Given the description of an element on the screen output the (x, y) to click on. 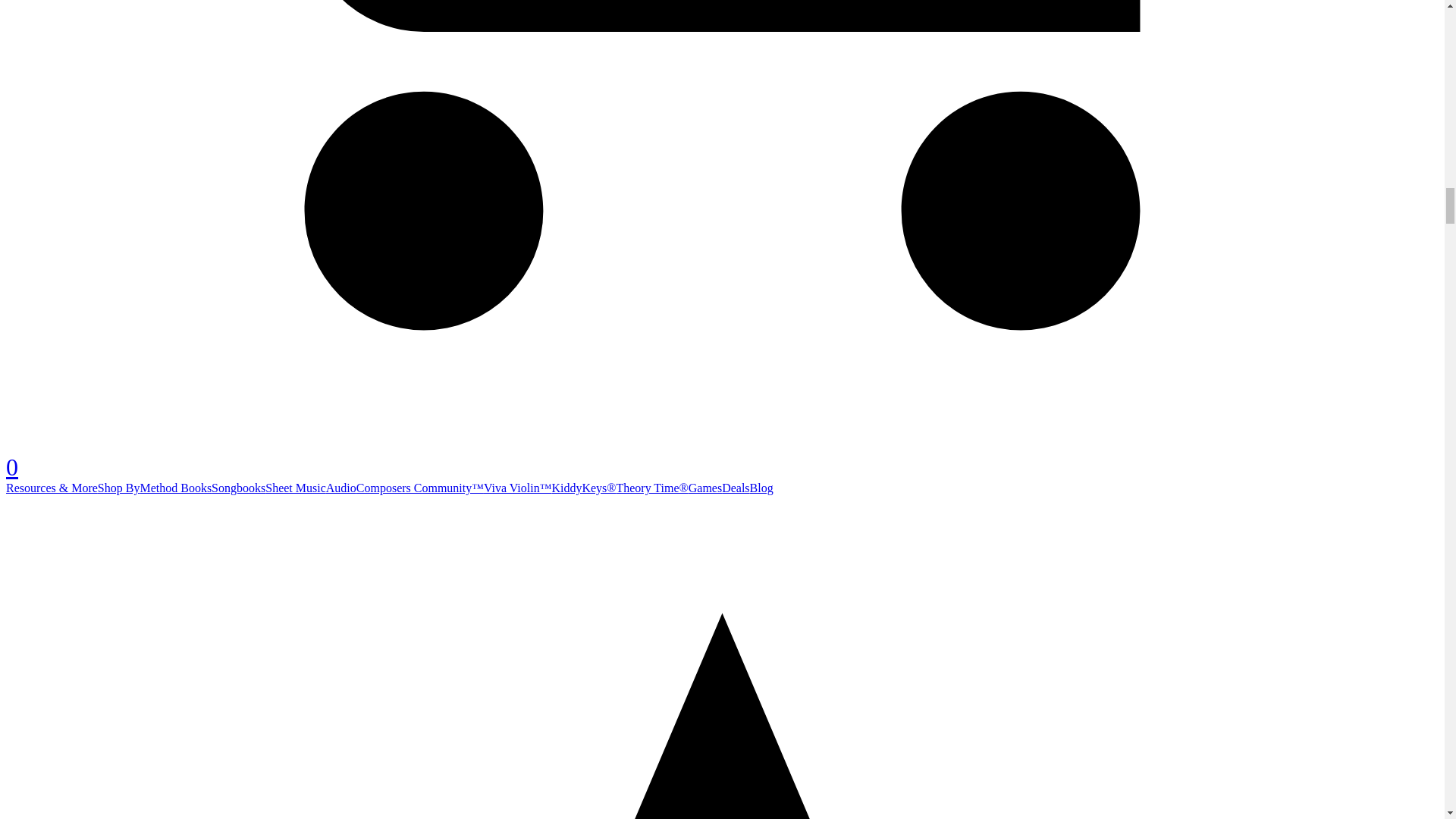
Sheet Music (295, 487)
Method Books (175, 487)
Games (705, 487)
Shop By (118, 487)
Audio (341, 487)
Blog (761, 487)
Deals (735, 487)
Songbooks (237, 487)
